Given the description of an element on the screen output the (x, y) to click on. 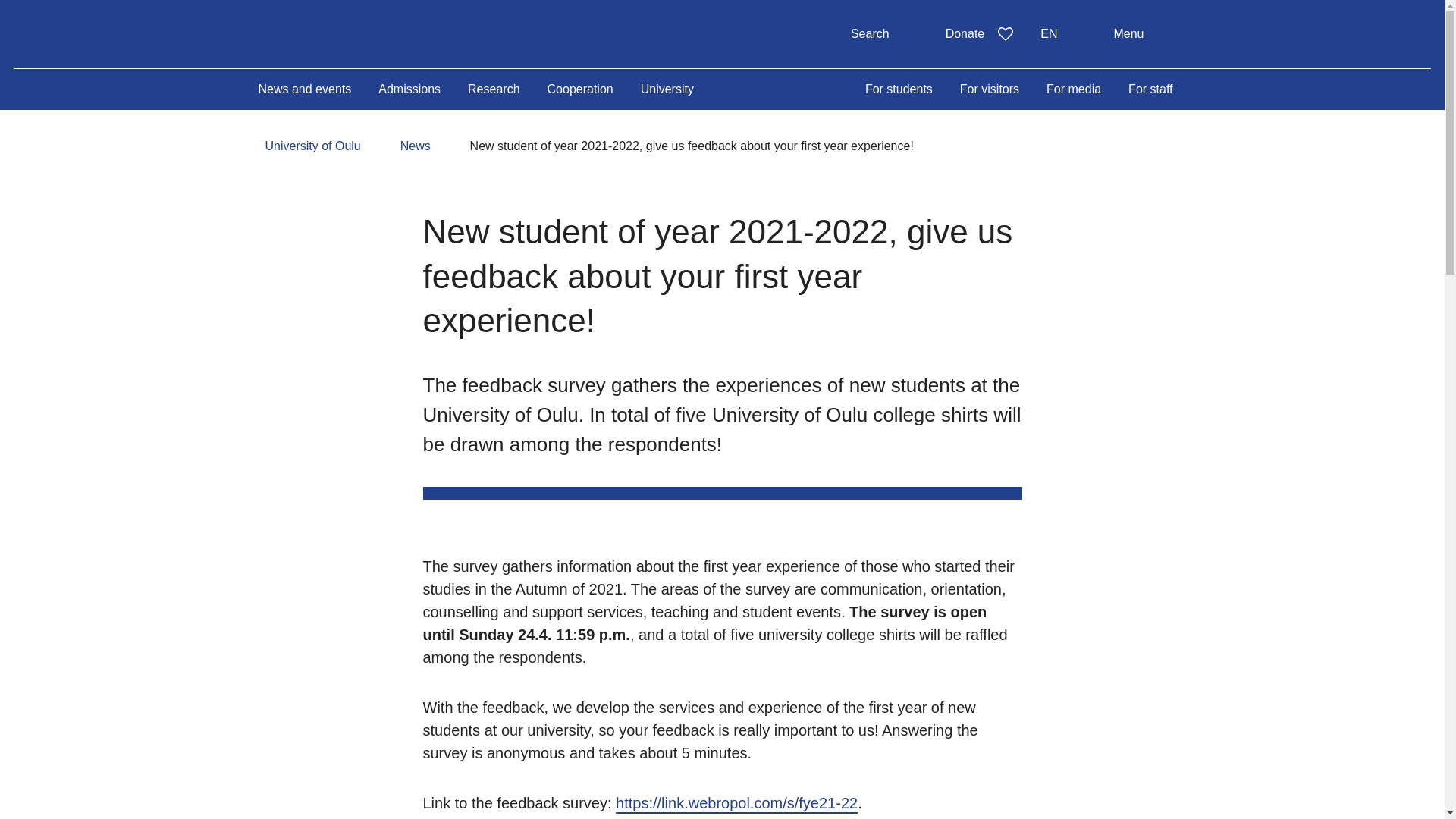
Skip to main content (1062, 33)
University of Oulu front page (979, 33)
University of Oulu front page (378, 33)
Search (378, 33)
University of Oulu front page (884, 33)
